Given the description of an element on the screen output the (x, y) to click on. 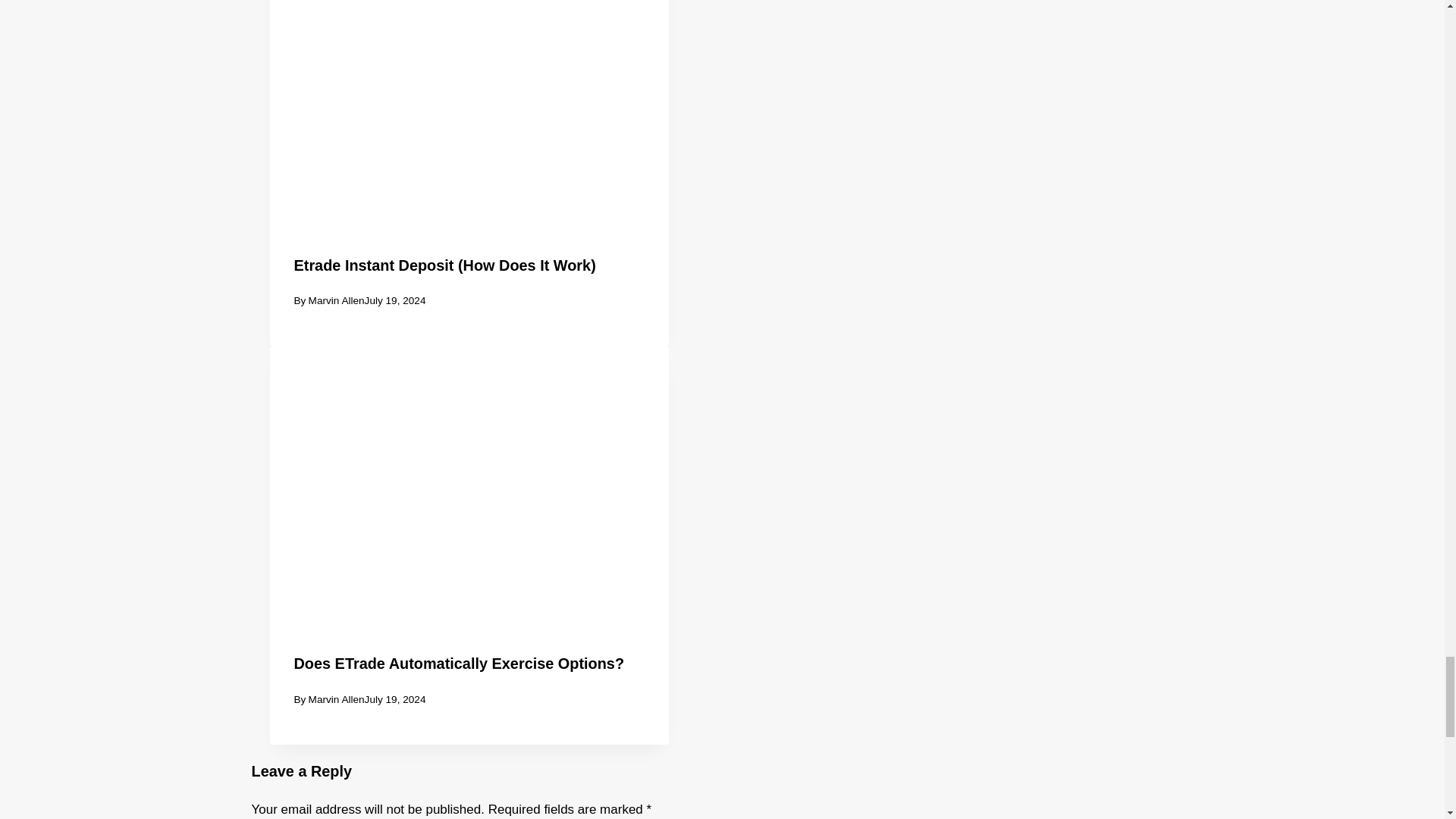
Does ETrade Automatically Exercise Options? 8 (469, 479)
